Given the description of an element on the screen output the (x, y) to click on. 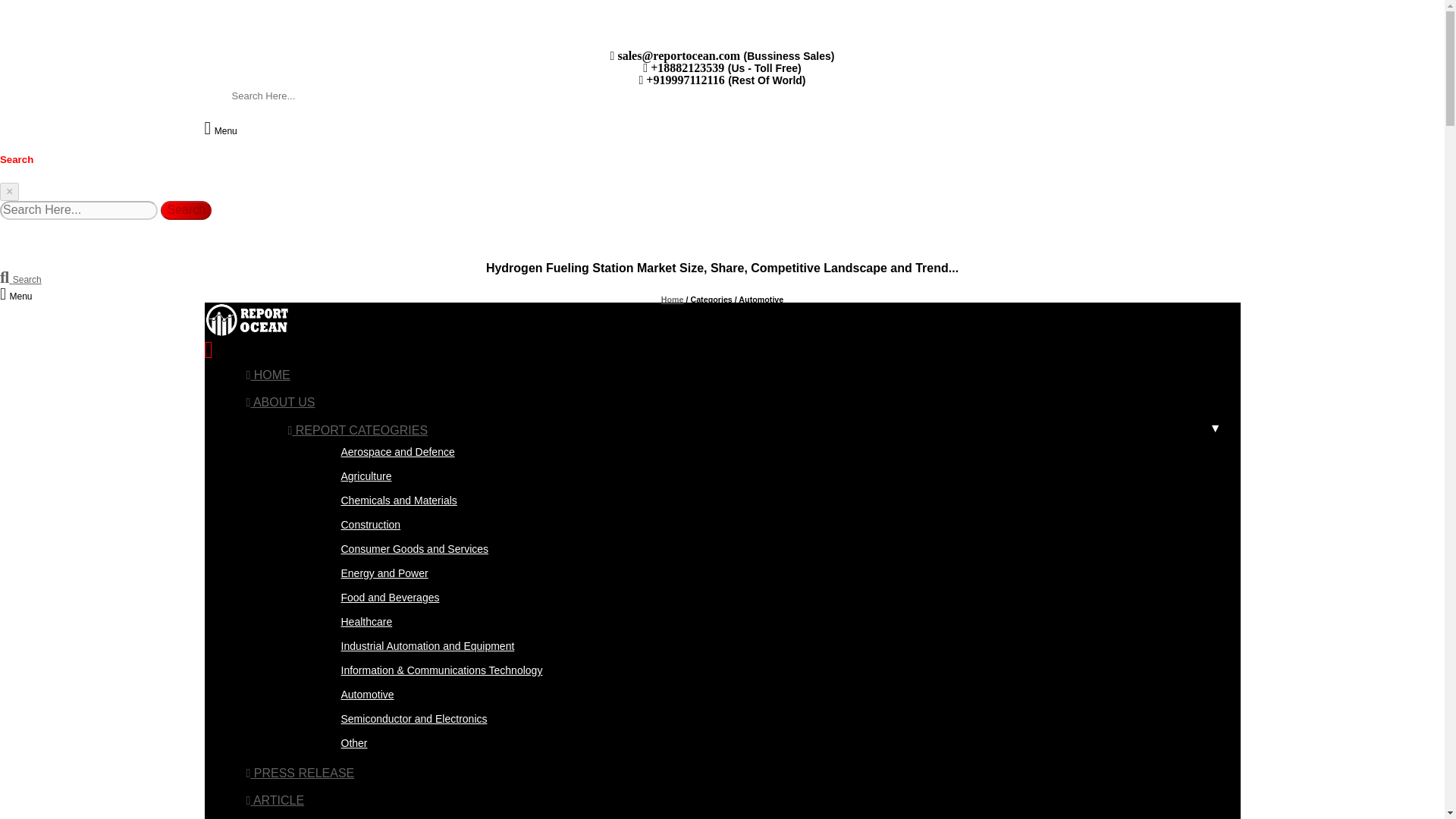
Energy and Power (378, 573)
Aerospace and Defence (391, 451)
Consumer Goods and Services (408, 548)
Food and Beverages (384, 597)
PRESS RELEASE (299, 772)
Search (21, 278)
ABOUT US (280, 401)
Other (347, 743)
Semiconductor and Electronics (407, 718)
Chemicals and Materials (393, 500)
Construction (364, 524)
Agriculture (360, 476)
REPORT CATEOGRIES (358, 430)
Automotive (361, 694)
Home (672, 298)
